Given the description of an element on the screen output the (x, y) to click on. 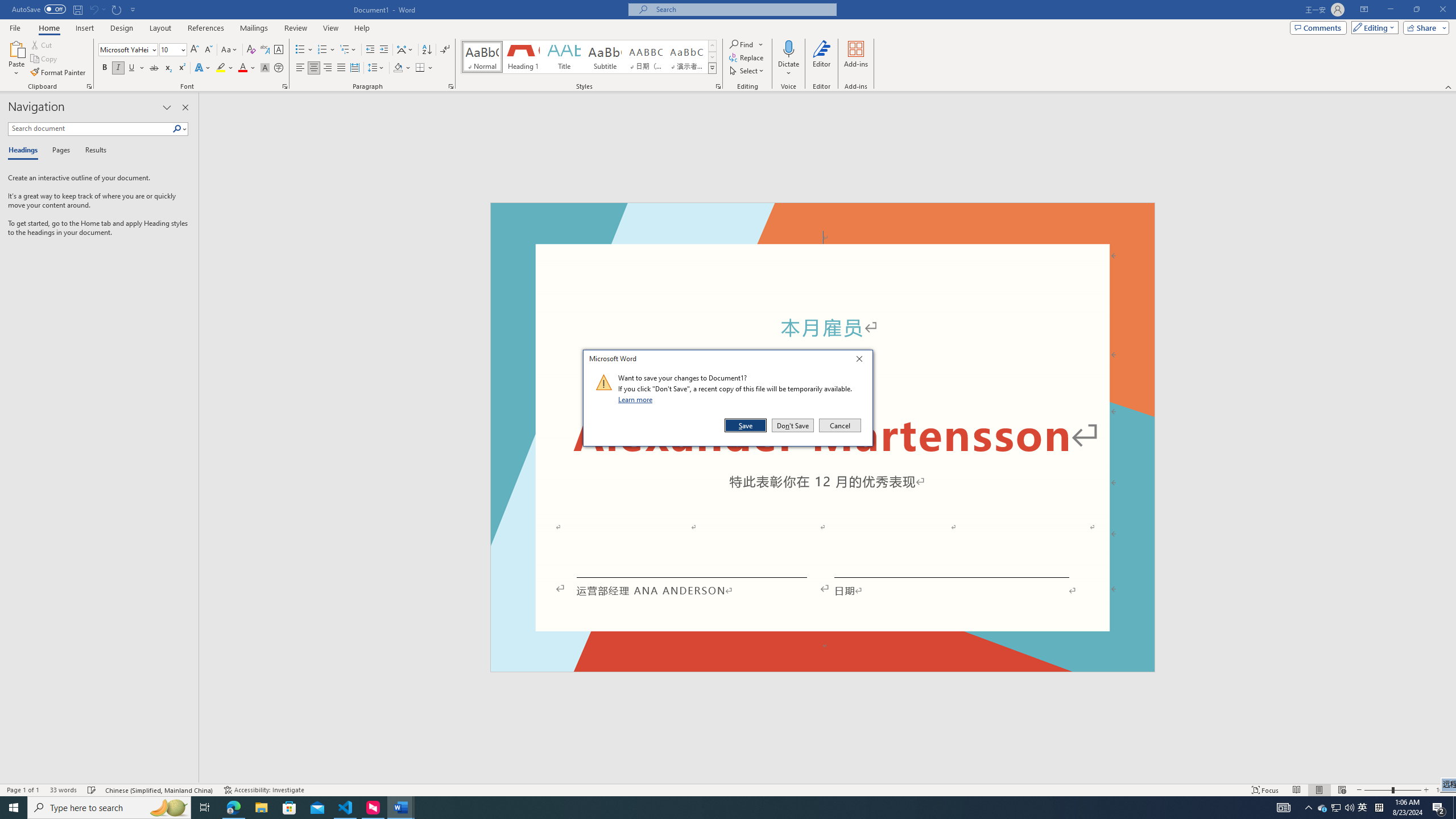
File Explorer (261, 807)
Center (313, 67)
Search highlights icon opens search home window (167, 807)
Cut (42, 44)
Search document (89, 128)
Action Center, 2 new notifications (1439, 807)
User Promoted Notification Area (1336, 807)
Header -Section 1- (822, 216)
